Given the description of an element on the screen output the (x, y) to click on. 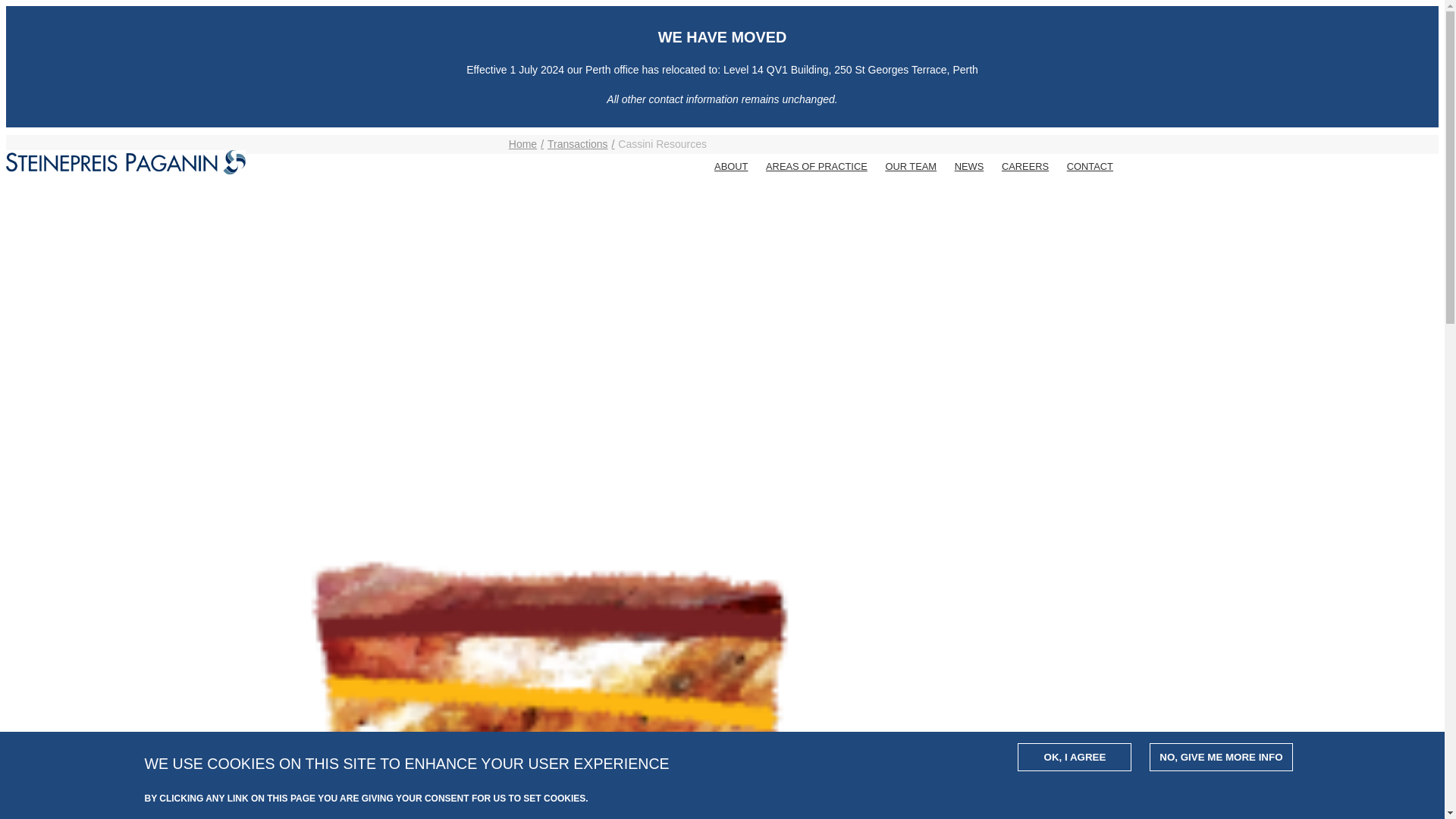
NO, GIVE ME MORE INFO (1221, 756)
OK, I AGREE (1074, 756)
AREAS OF PRACTICE (816, 166)
